Given the description of an element on the screen output the (x, y) to click on. 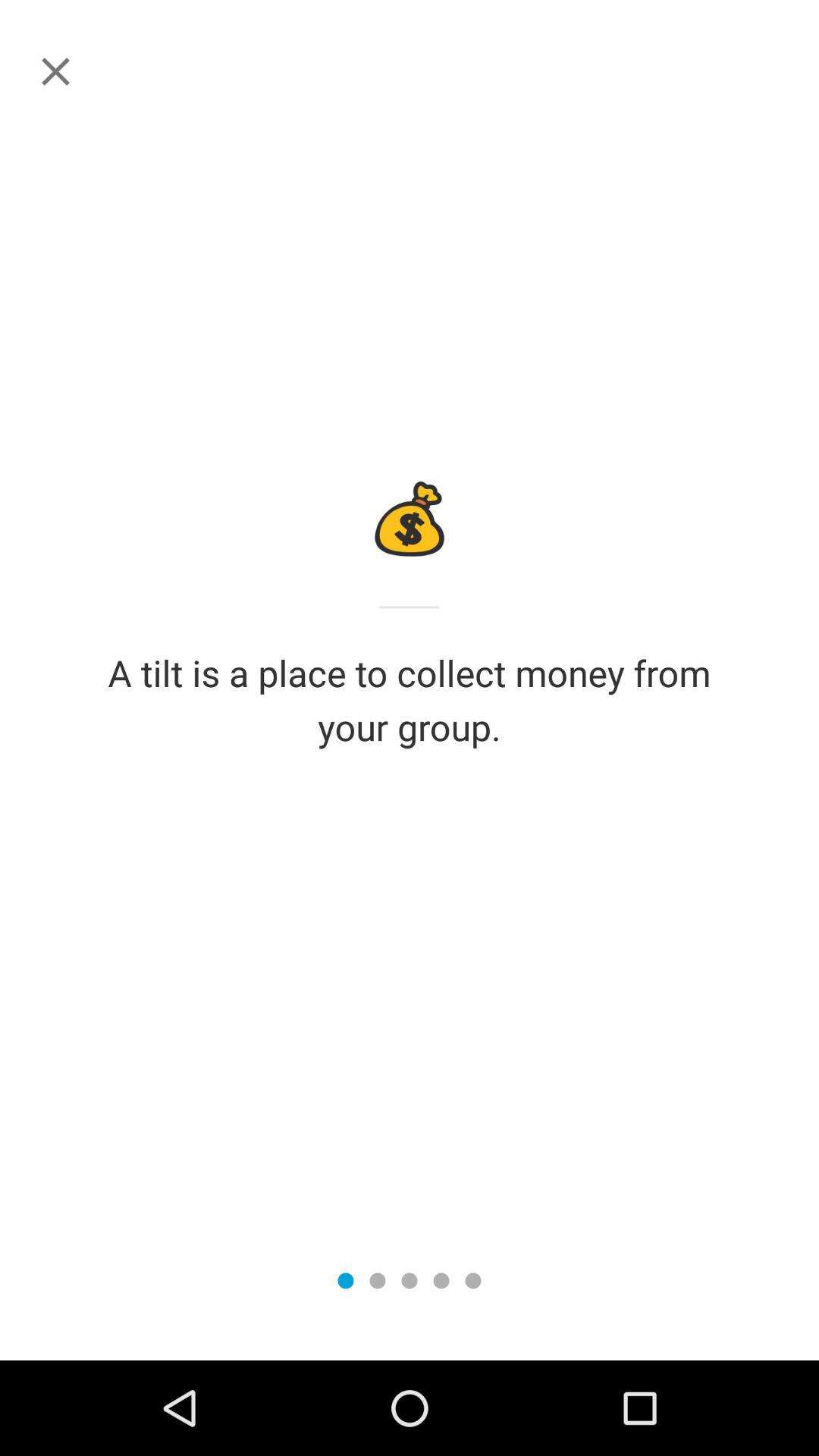
close instructions (55, 71)
